Given the description of an element on the screen output the (x, y) to click on. 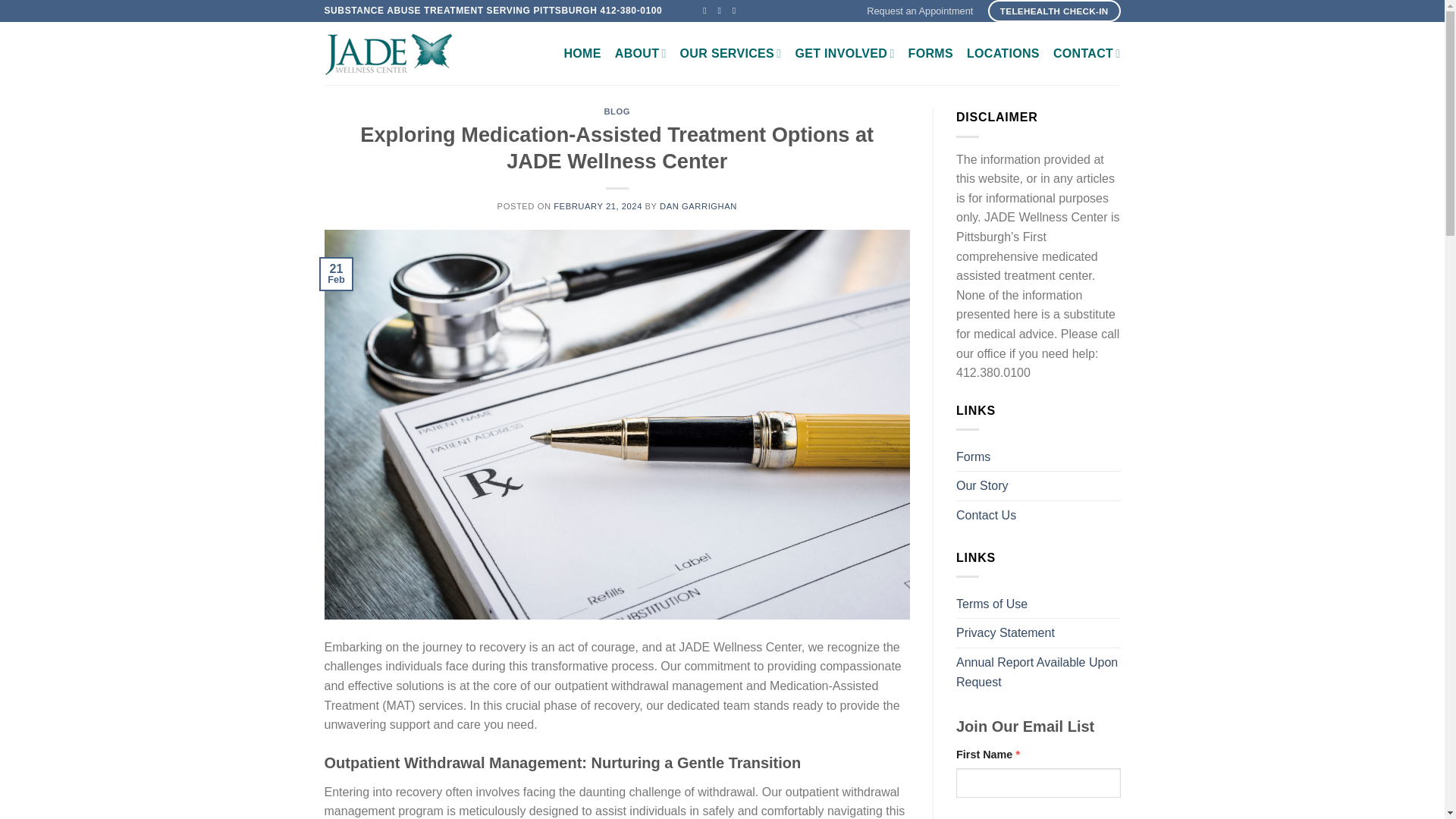
OUR SERVICES (730, 52)
FORMS (930, 53)
CONTACT (1086, 52)
FEBRUARY 21, 2024 (597, 205)
HOME (581, 53)
Request an Appointment (919, 11)
GET INVOLVED (843, 52)
BLOG (617, 111)
LOCATIONS (1002, 53)
